Given the description of an element on the screen output the (x, y) to click on. 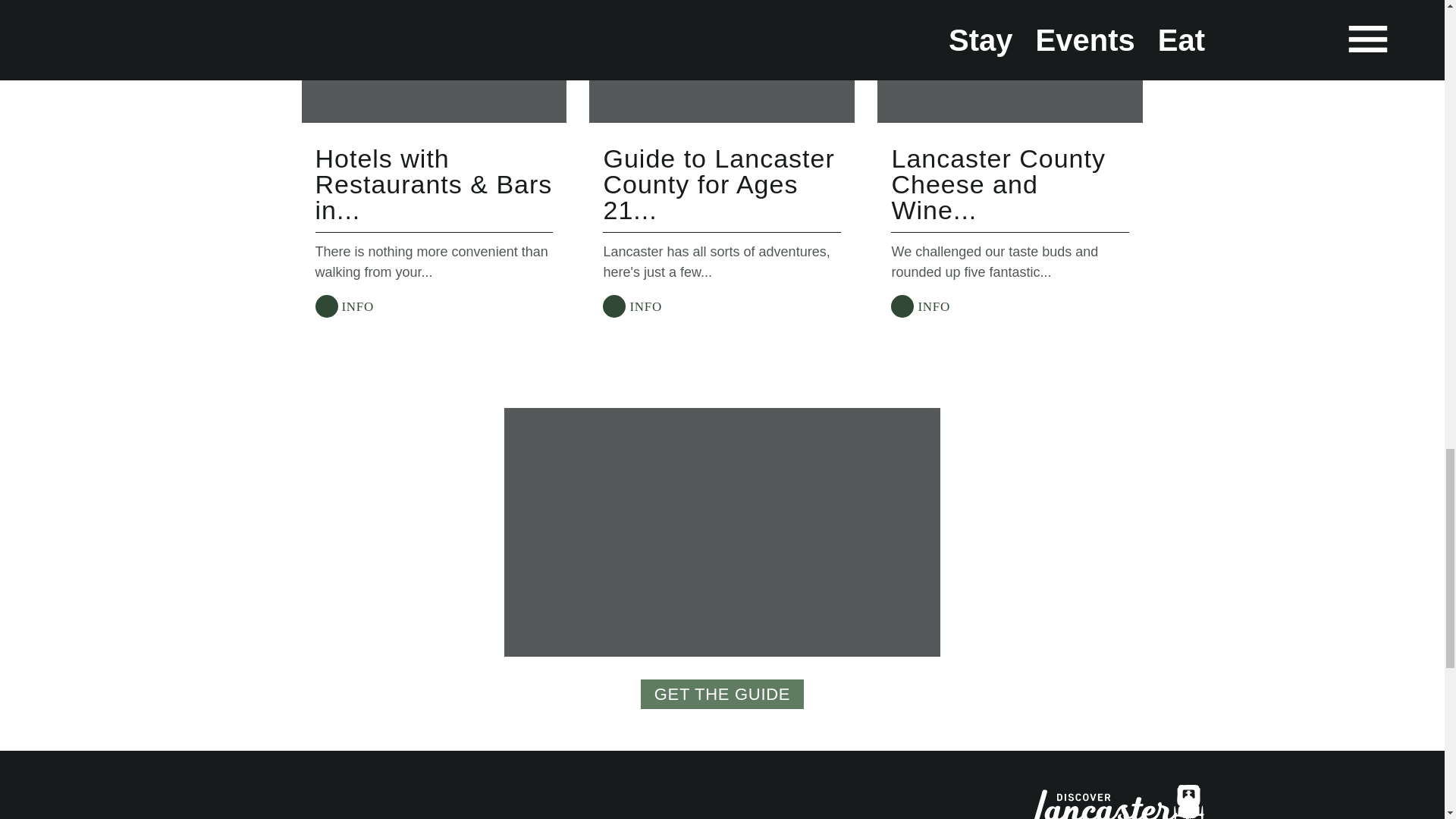
Lancaster County Cheese and Wine... (998, 184)
INFO (631, 306)
GET THE GUIDE (721, 694)
INFO (920, 306)
INFO (345, 306)
Guide to Lancaster County for Ages 21... (718, 184)
